Given the description of an element on the screen output the (x, y) to click on. 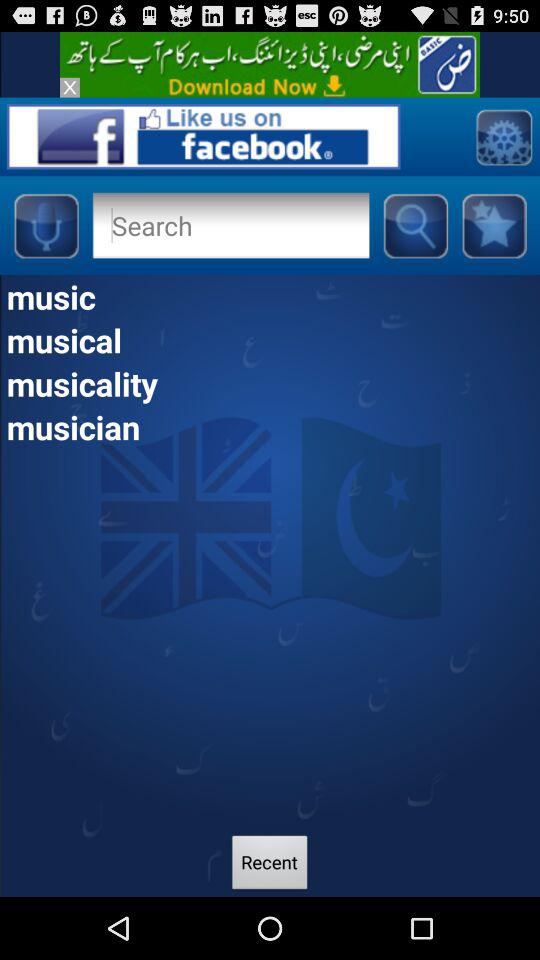
search bar (230, 225)
